Given the description of an element on the screen output the (x, y) to click on. 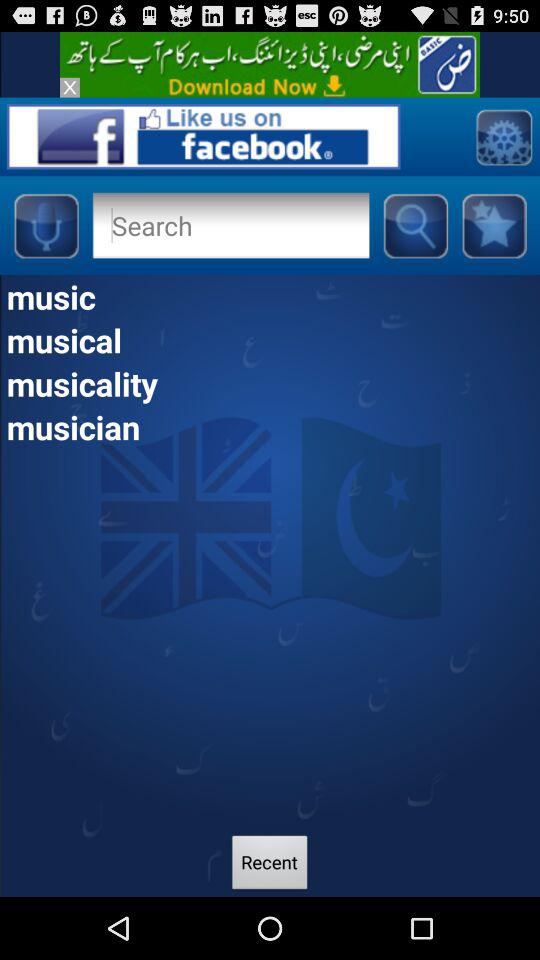
search bar (230, 225)
